Given the description of an element on the screen output the (x, y) to click on. 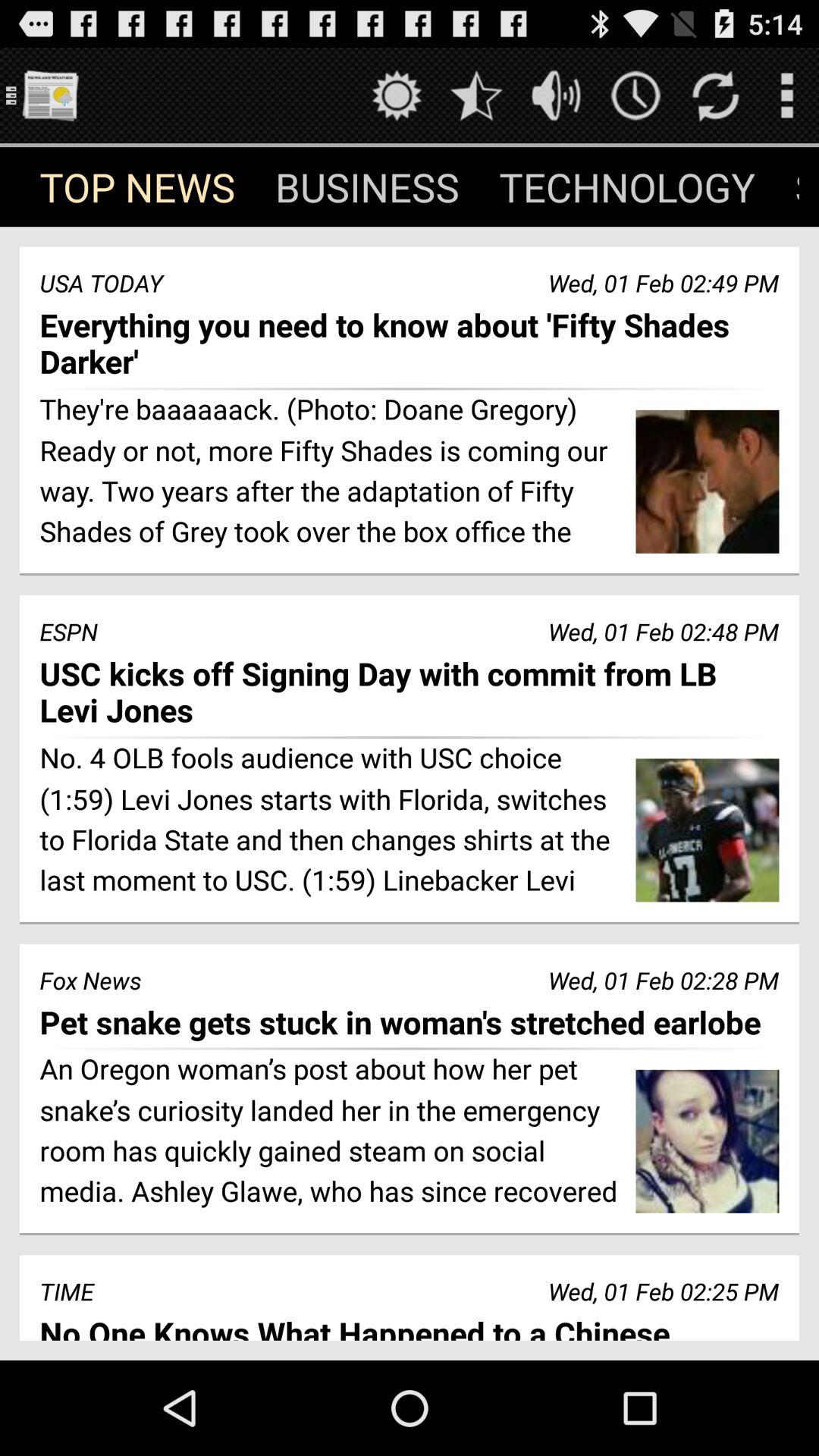
change volume level (556, 95)
